Given the description of an element on the screen output the (x, y) to click on. 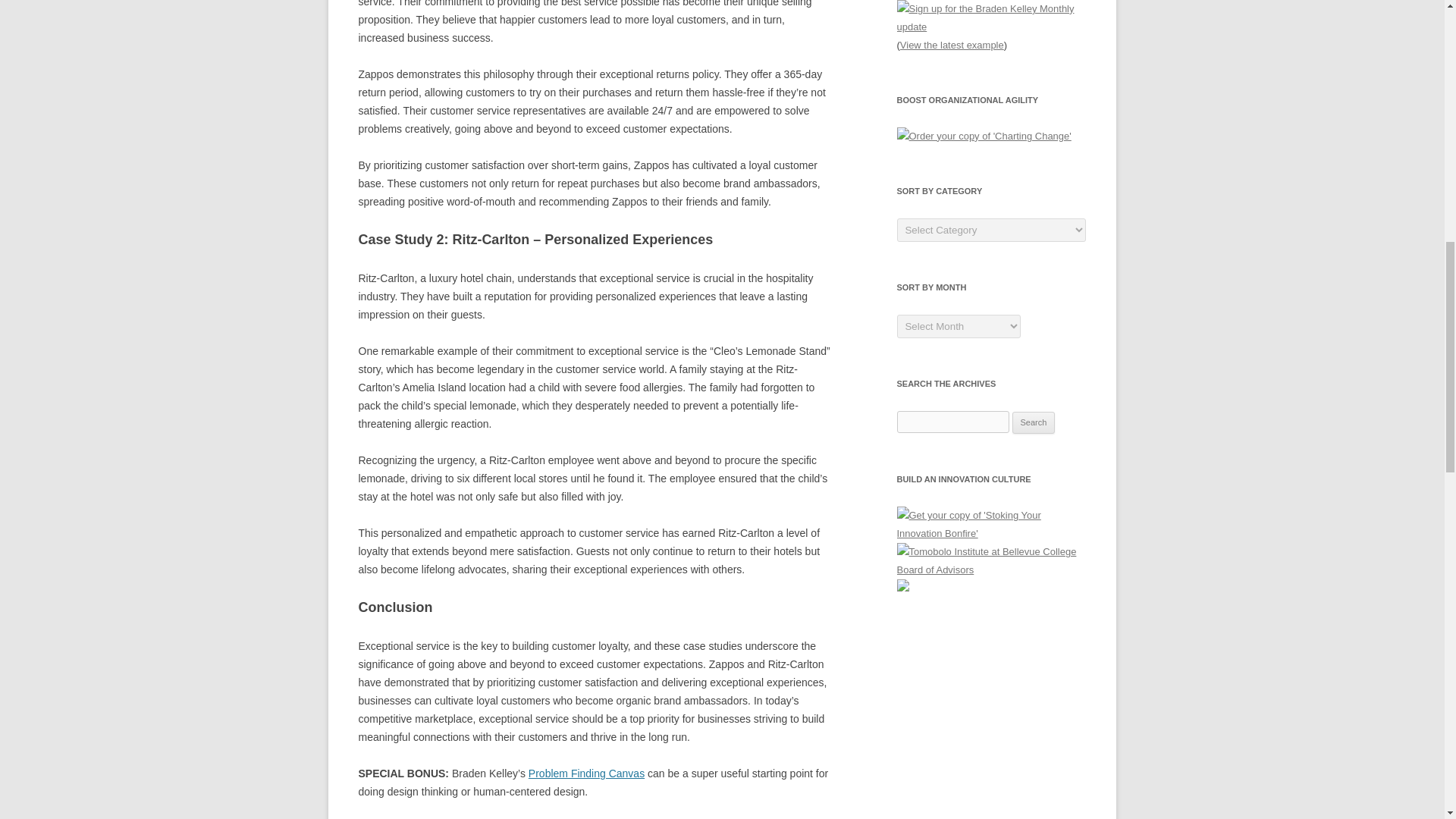
Problem Finding Canvas (586, 773)
Sign up for the Braden Kelley Monthly update (991, 18)
Search (1033, 422)
